Given the description of an element on the screen output the (x, y) to click on. 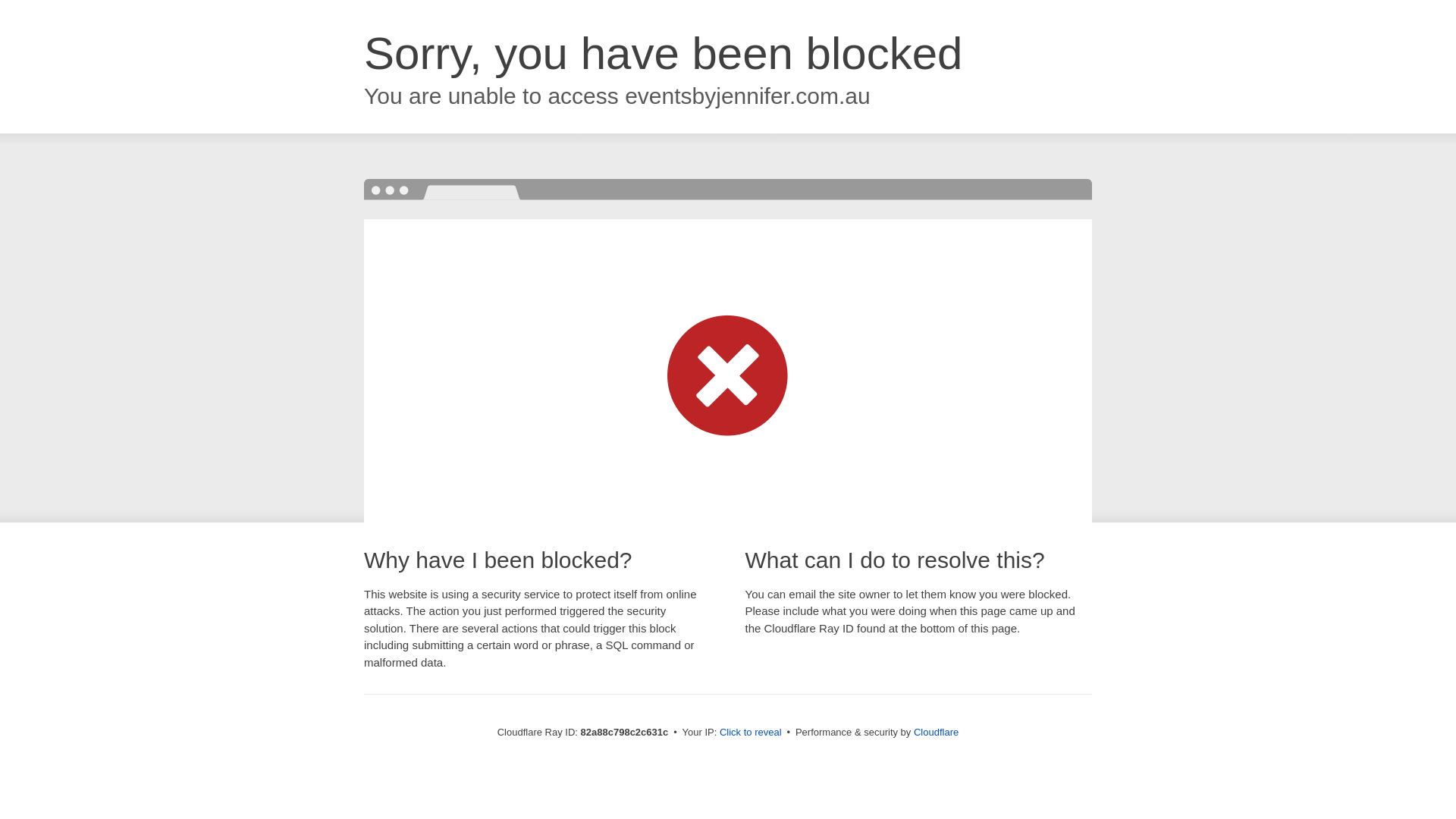
Click to reveal Element type: text (750, 732)
Cloudflare Element type: text (935, 731)
